Given the description of an element on the screen output the (x, y) to click on. 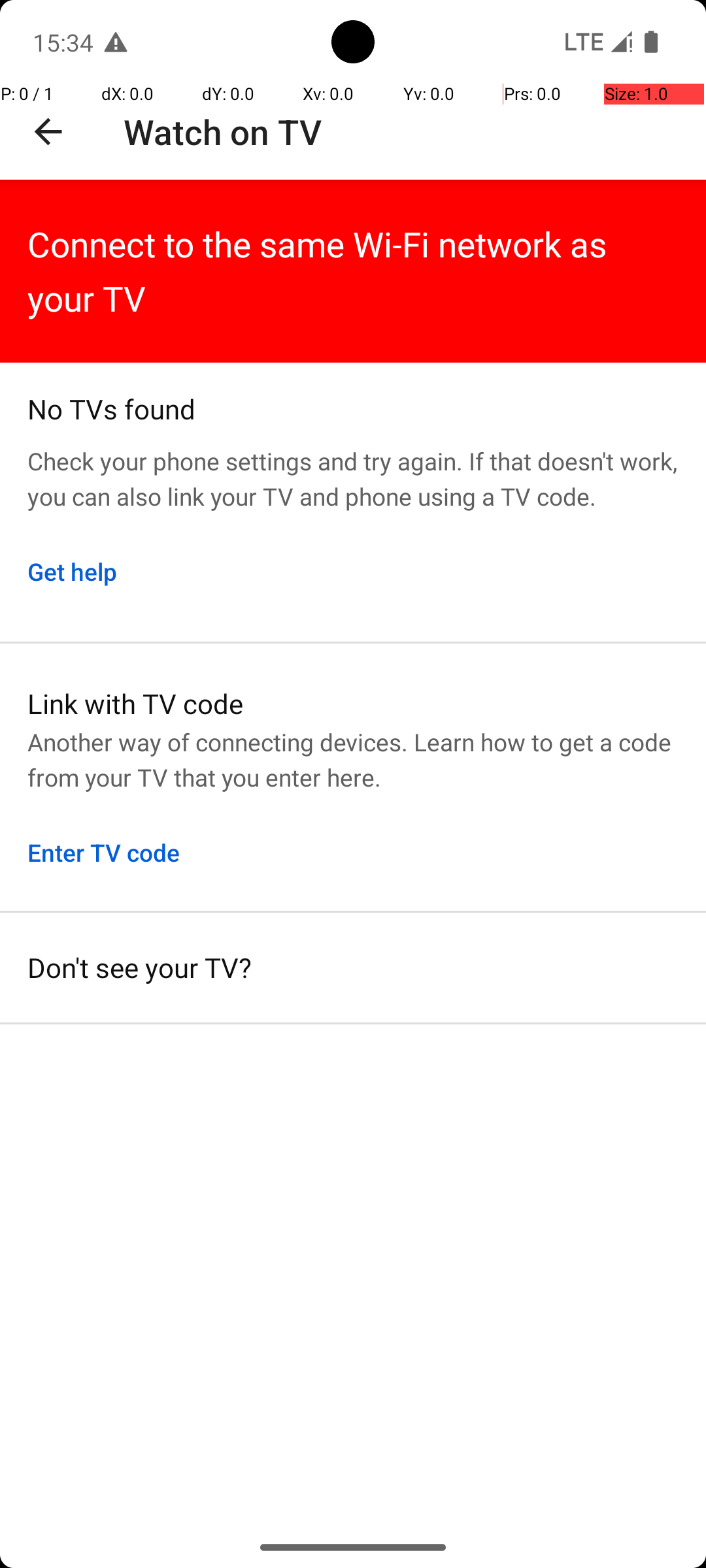
Watch on TV Element type: android.widget.TextView (222, 131)
Connect to the same Wi-Fi network as your TV Element type: android.widget.TextView (353, 270)
No TVs found Element type: android.widget.TextView (353, 401)
Check your phone settings and try again. If that doesn't work, you can also link your TV and phone using a TV code. Element type: android.widget.TextView (353, 469)
Get help Element type: android.widget.TextView (71, 571)
Enter TV code link Element type: android.widget.LinearLayout (353, 776)
Don't see your TV? Element type: android.widget.TextView (353, 967)
Link with TV code Element type: android.widget.TextView (353, 702)
Another way of connecting devices. Learn how to get a code from your TV that you enter here. Element type: android.widget.TextView (353, 759)
Enter TV code Element type: android.widget.TextView (103, 852)
